Given the description of an element on the screen output the (x, y) to click on. 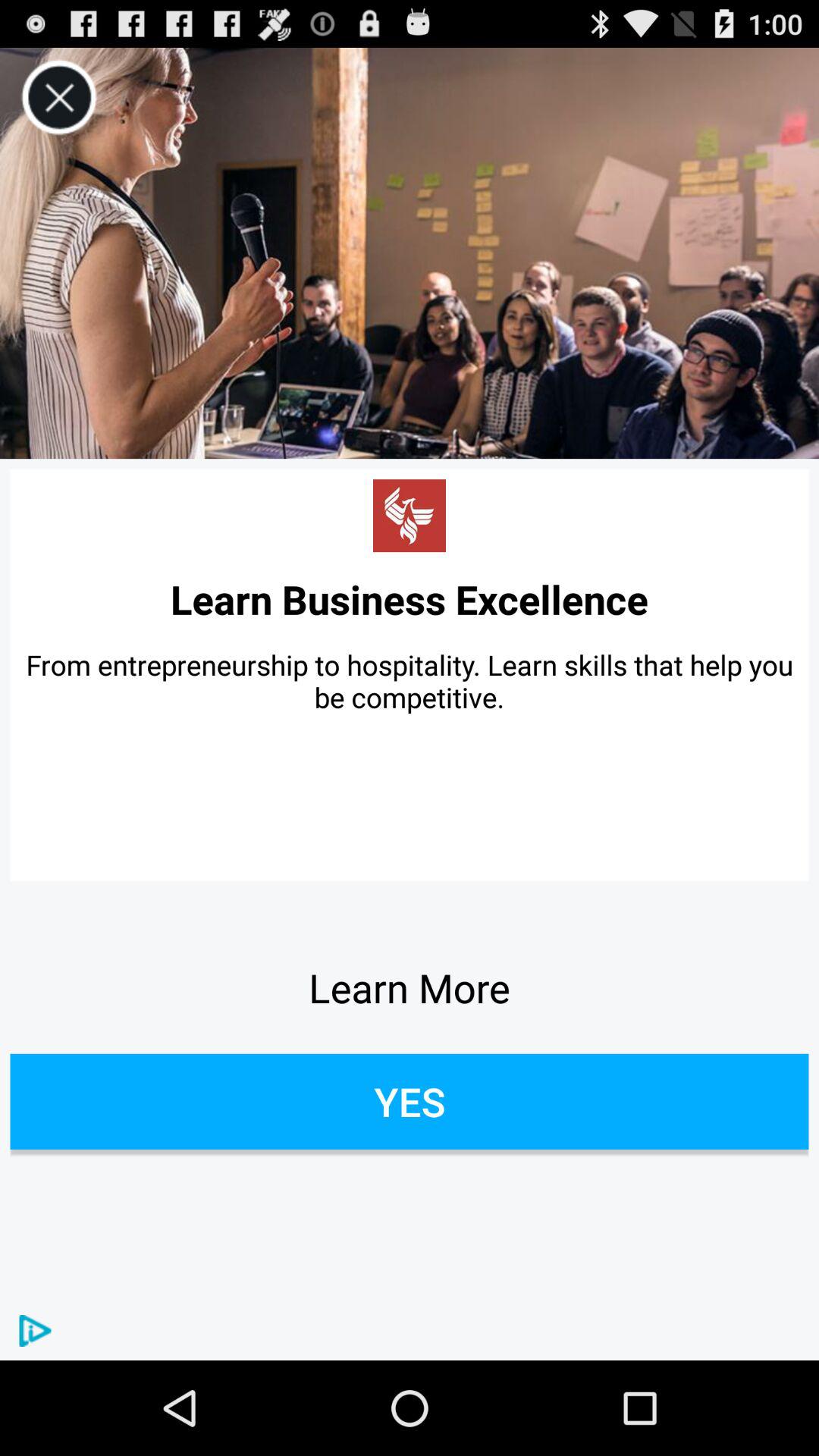
press learn more item (409, 987)
